Given the description of an element on the screen output the (x, y) to click on. 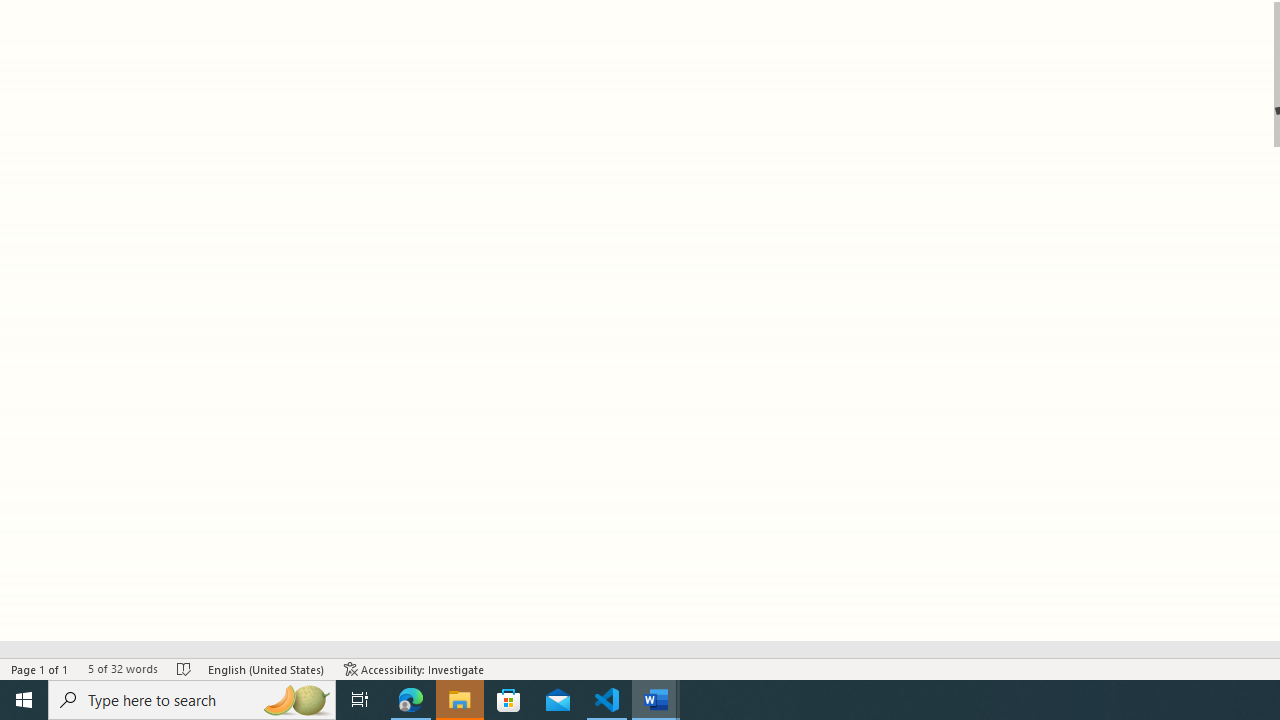
Spelling and Grammar Check No Errors (184, 668)
Page Number Page 1 of 1 (39, 668)
Word Count 5 of 32 words (122, 668)
File Explorer - 1 running window (460, 699)
Microsoft Edge - 1 running window (411, 699)
Word - 2 running windows (656, 699)
